Given the description of an element on the screen output the (x, y) to click on. 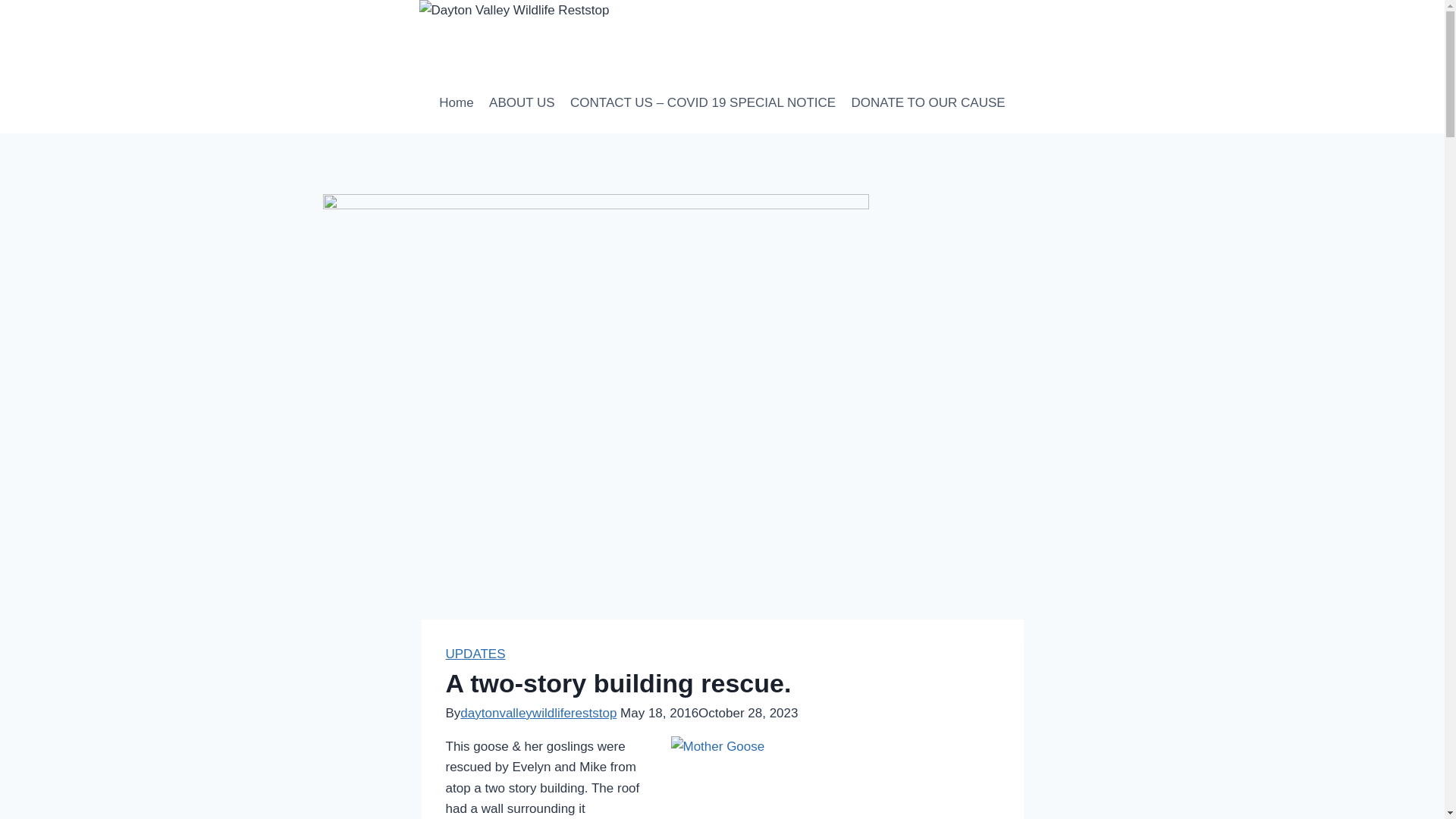
daytonvalleywildlifereststop (537, 712)
DONATE TO OUR CAUSE (927, 103)
UPDATES (475, 653)
Home (455, 103)
ABOUT US (521, 103)
